Given the description of an element on the screen output the (x, y) to click on. 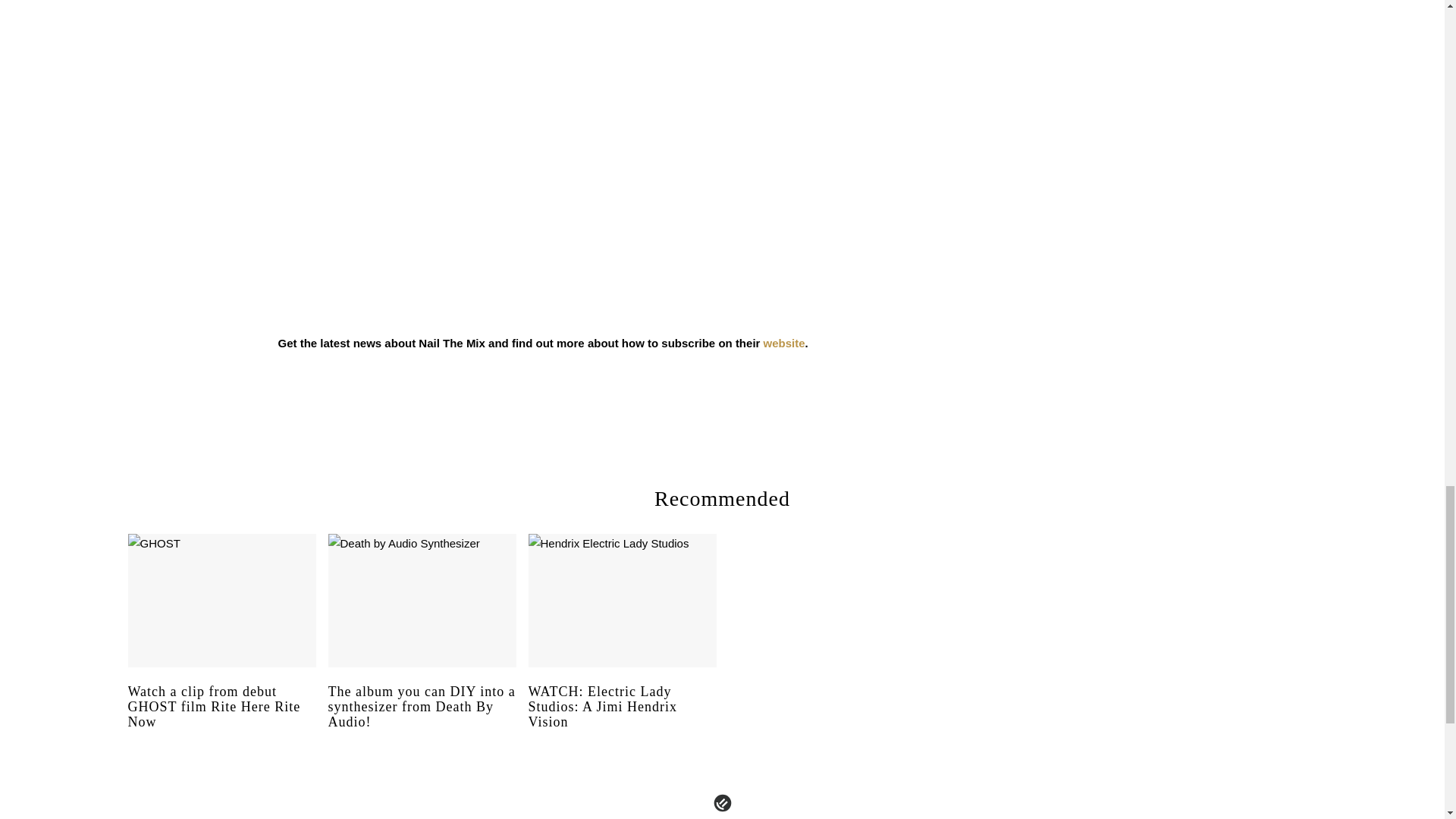
Watch a clip from debut GHOST film Rite Here Rite Now (221, 720)
website (783, 342)
WATCH: Electric Lady Studios: A Jimi Hendrix Vision (621, 720)
